Given the description of an element on the screen output the (x, y) to click on. 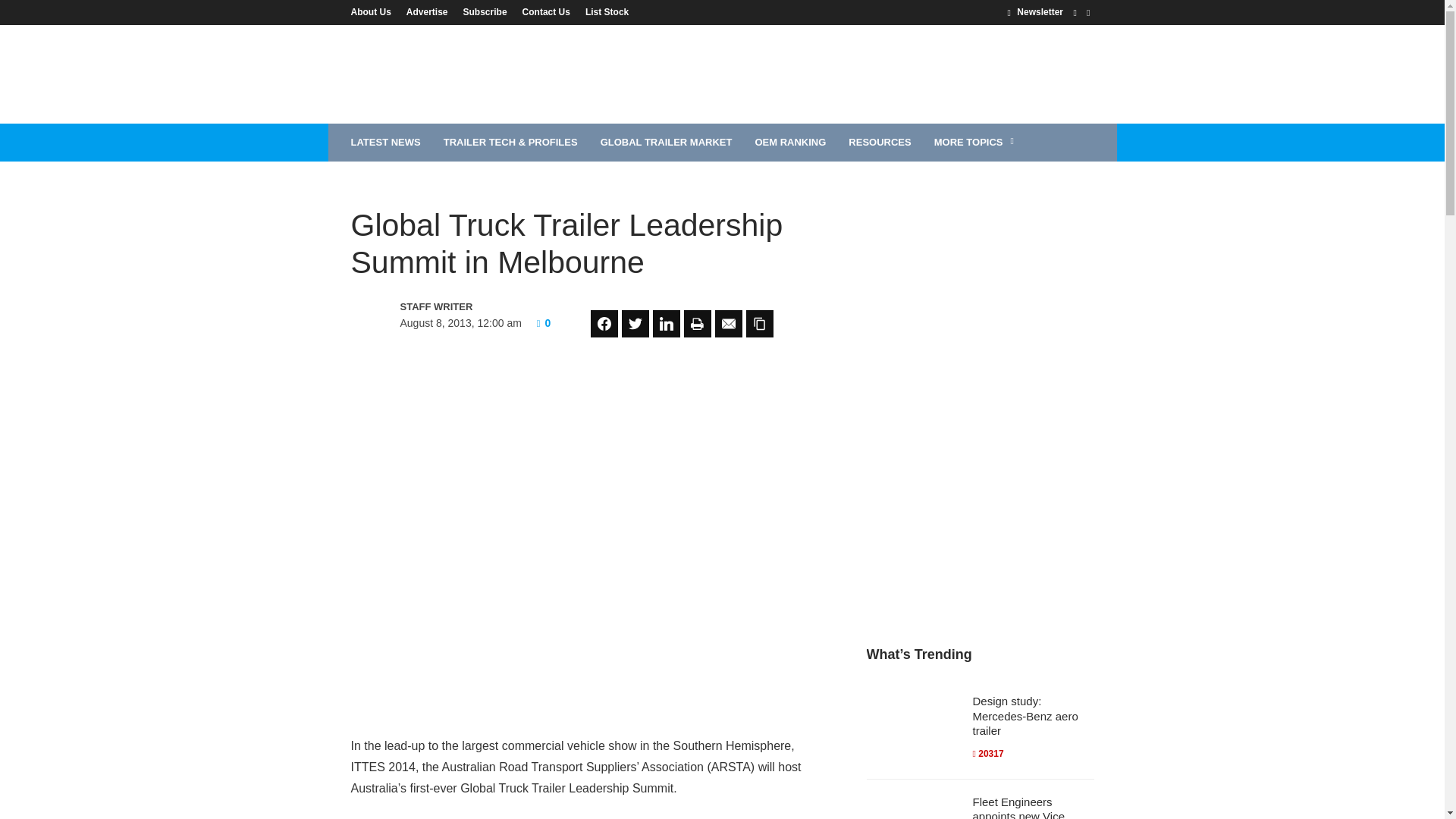
GLOBAL TRAILER MARKET (666, 142)
LATEST NEWS (385, 142)
List Stock (603, 11)
Contact Us (546, 11)
OEM RANKING (789, 142)
Subscribe (485, 11)
Share on Copy Link (759, 323)
Share on Twitter (635, 323)
Newsletter (1034, 11)
MORE TOPICS (976, 142)
